Given the description of an element on the screen output the (x, y) to click on. 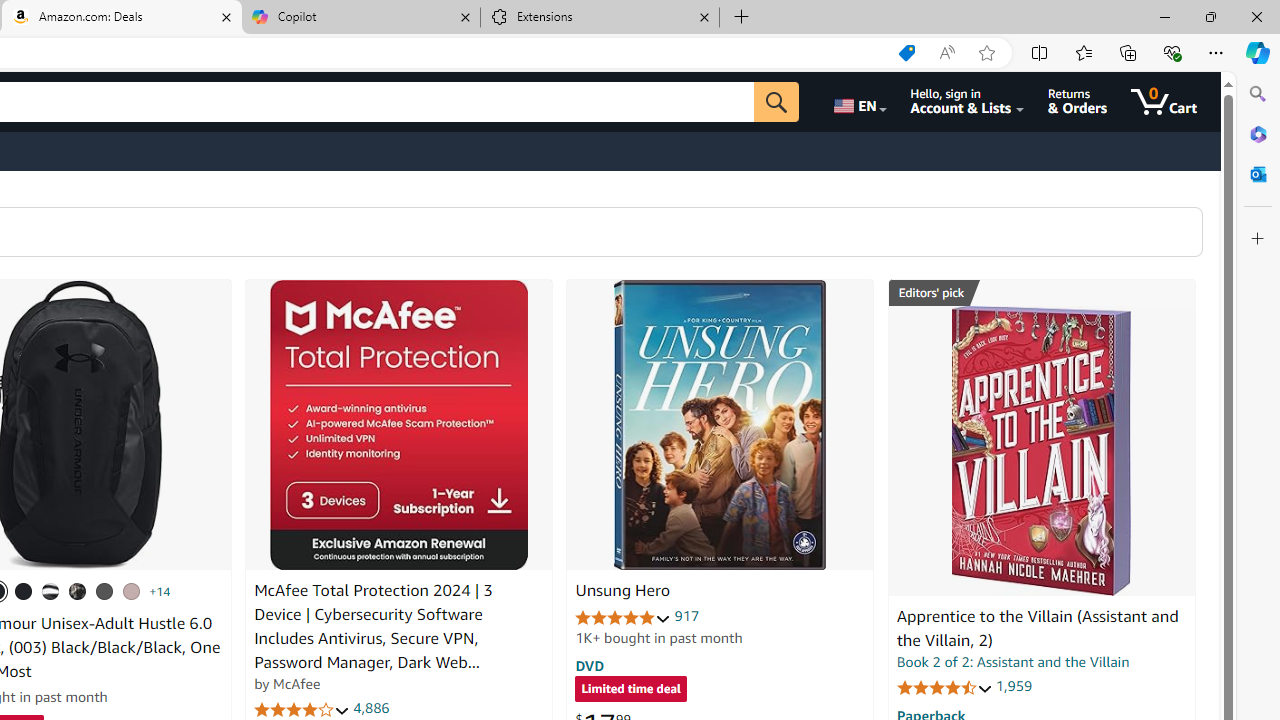
Unsung Hero (622, 591)
Limited time deal (630, 690)
Apprentice to the Villain (Assistant and the Villain, 2) (1041, 451)
1,959 (1013, 686)
(002) Black / Black / White (51, 591)
4.6 out of 5 stars (944, 686)
